Given the description of an element on the screen output the (x, y) to click on. 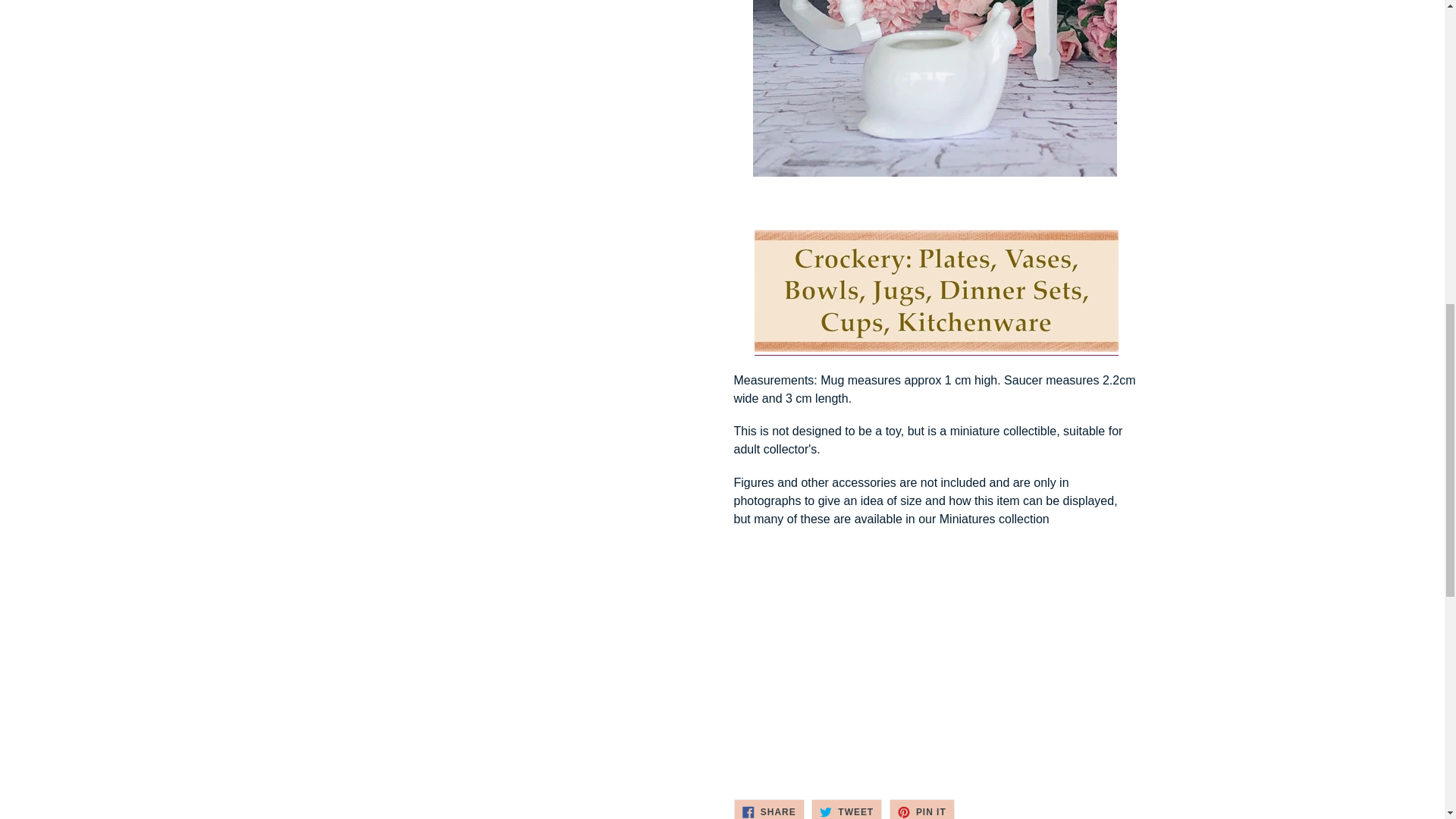
Pin on Pinterest (922, 809)
Tweet on Twitter (846, 809)
Share on Facebook (769, 809)
